Given the description of an element on the screen output the (x, y) to click on. 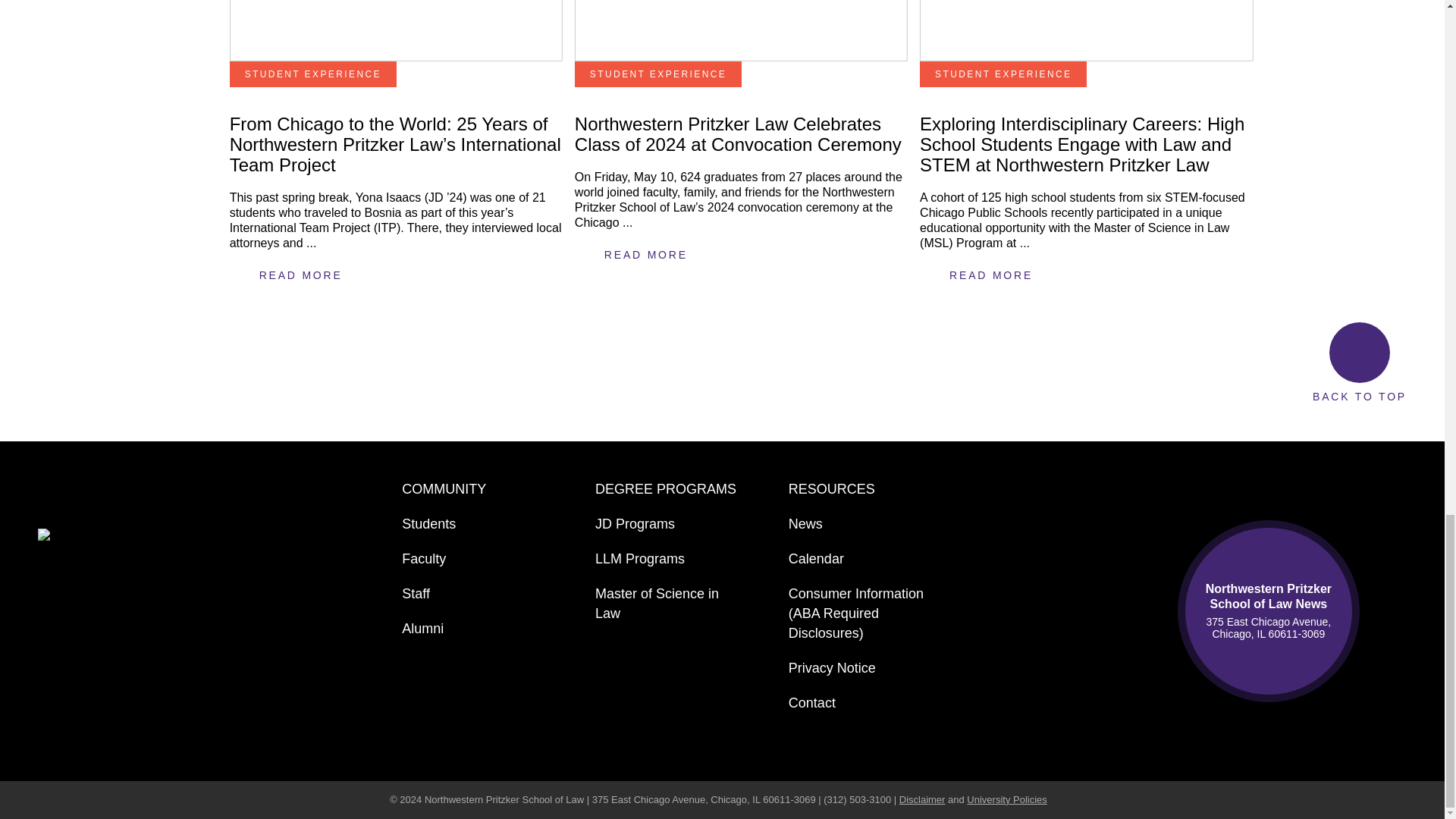
BACK TO TOP (1359, 362)
BACK TO TOP (1359, 362)
READ MORE (646, 264)
STUDENT EXPERIENCE (658, 73)
READ MORE (991, 275)
STUDENT EXPERIENCE (313, 73)
